Given the description of an element on the screen output the (x, y) to click on. 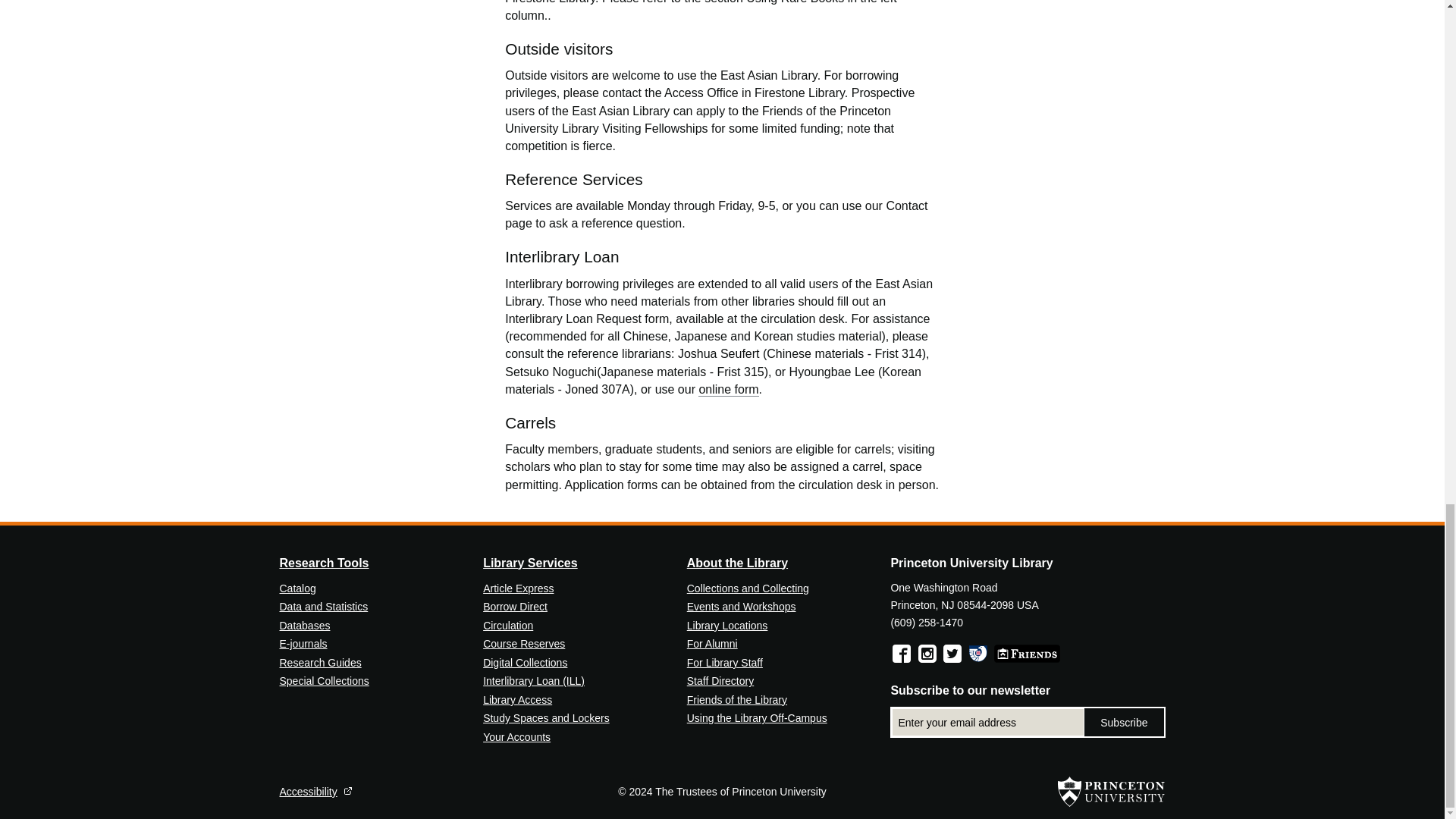
Government Documents Depository (978, 653)
Like us on Facebook (901, 653)
Subscribe (1123, 722)
Follow us on Instagram (927, 653)
Friends of the Library (1026, 653)
Follow us on Twitter (951, 653)
Interlibrary Loan Services, Article Express (534, 680)
Princeton University (1111, 791)
Use our Interlibrary Loan and Article Express Services (518, 588)
